Given the description of an element on the screen output the (x, y) to click on. 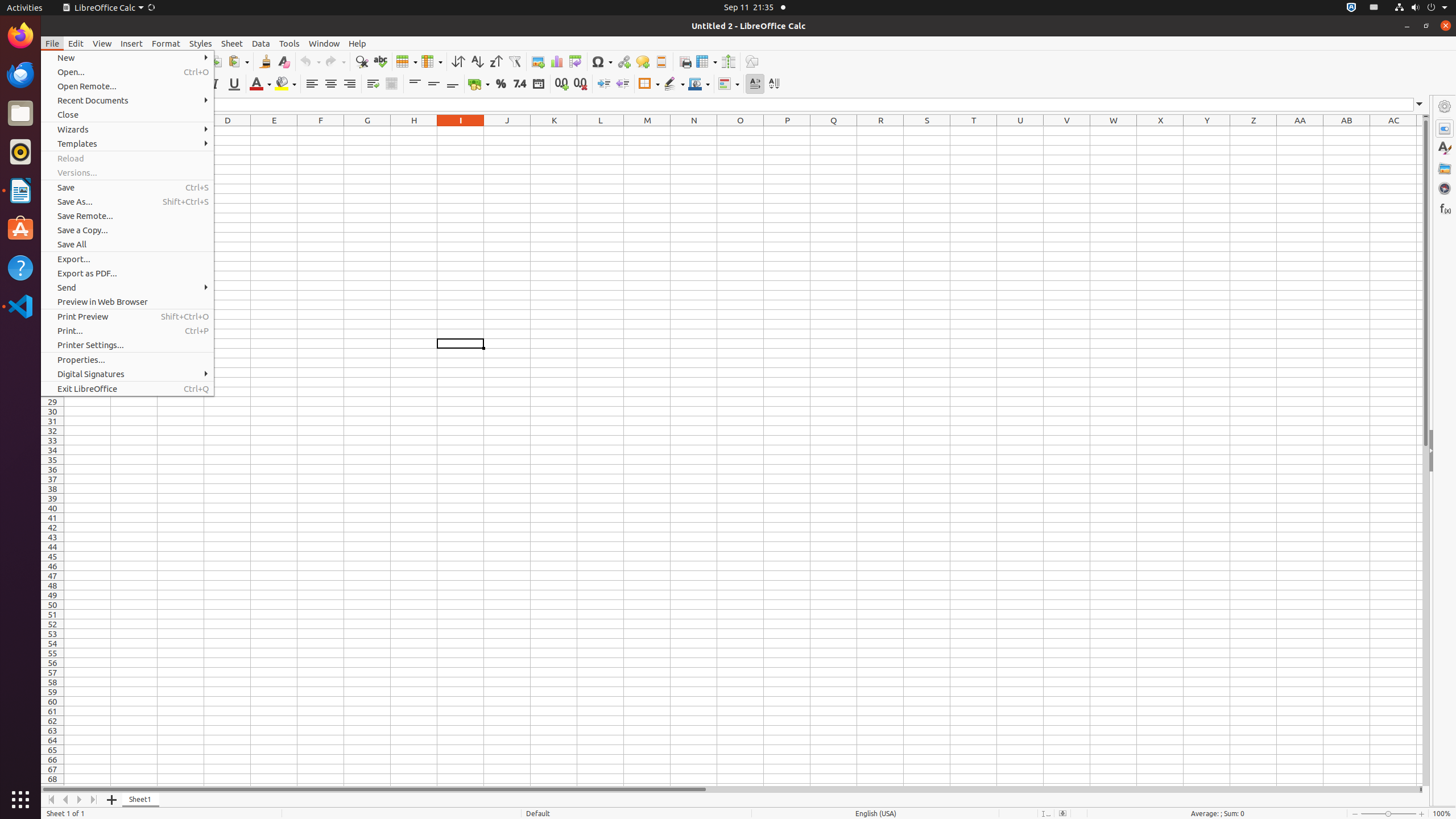
Properties... Element type: menu-item (126, 359)
Styles Element type: radio-button (1444, 148)
Align Center Element type: push-button (330, 83)
Sort Ascending Element type: push-button (476, 61)
Digital Signatures Element type: menu (126, 373)
